Given the description of an element on the screen output the (x, y) to click on. 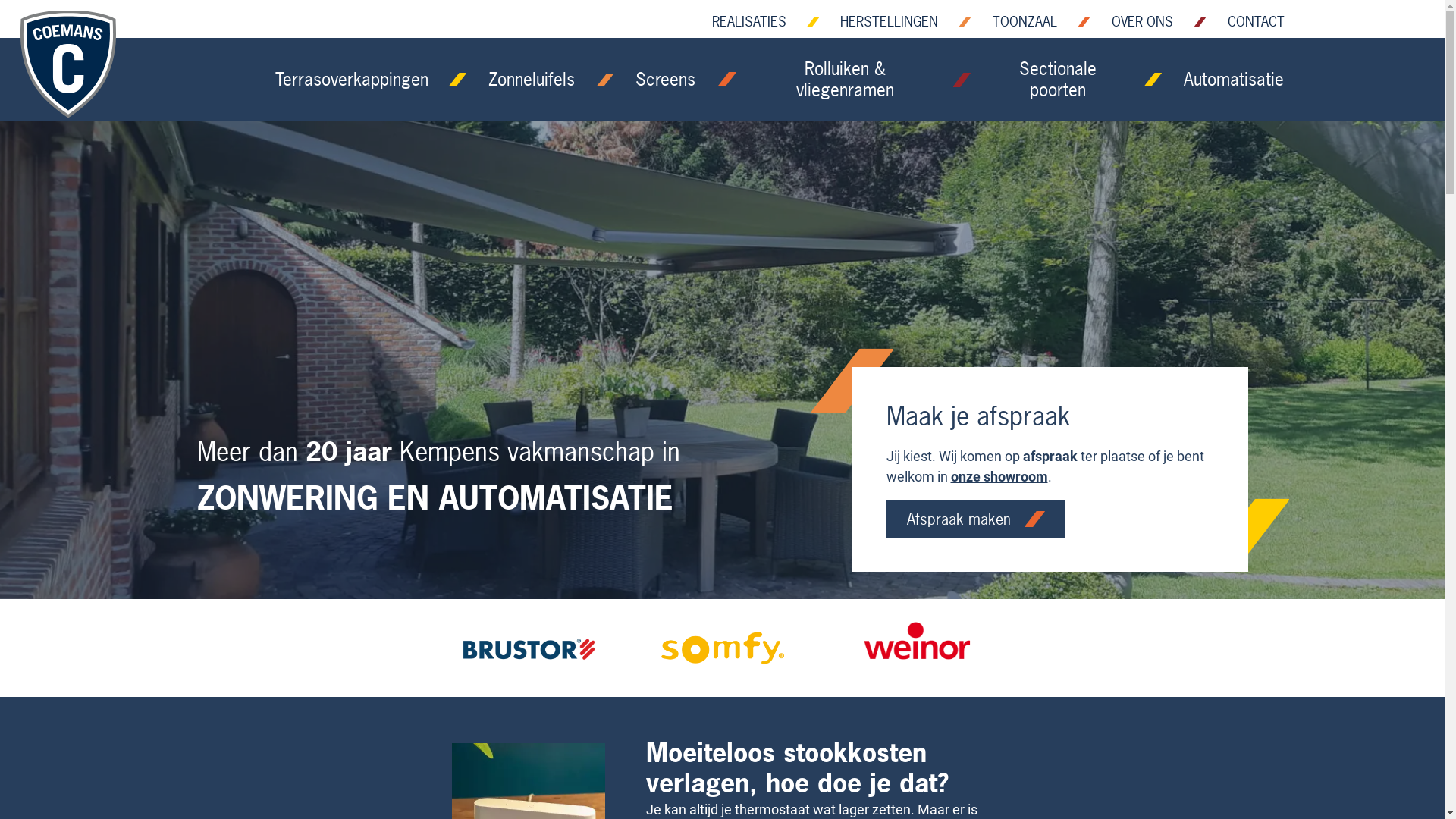
onze showroom Element type: text (999, 476)
Rolluiken & vliegenramen Element type: text (844, 79)
Zonneluifels Element type: text (531, 79)
Screens Element type: text (665, 79)
TOONZAAL Element type: text (1024, 22)
Sectionale poorten Element type: text (1057, 79)
OVER ONS Element type: text (1141, 22)
REALISATIES Element type: text (748, 22)
Automatisatie Element type: text (1233, 79)
Afspraak maken Element type: text (974, 519)
CONTACT Element type: text (1255, 22)
HERSTELLINGEN Element type: text (889, 22)
Terrasoverkappingen Element type: text (351, 79)
